Given the description of an element on the screen output the (x, y) to click on. 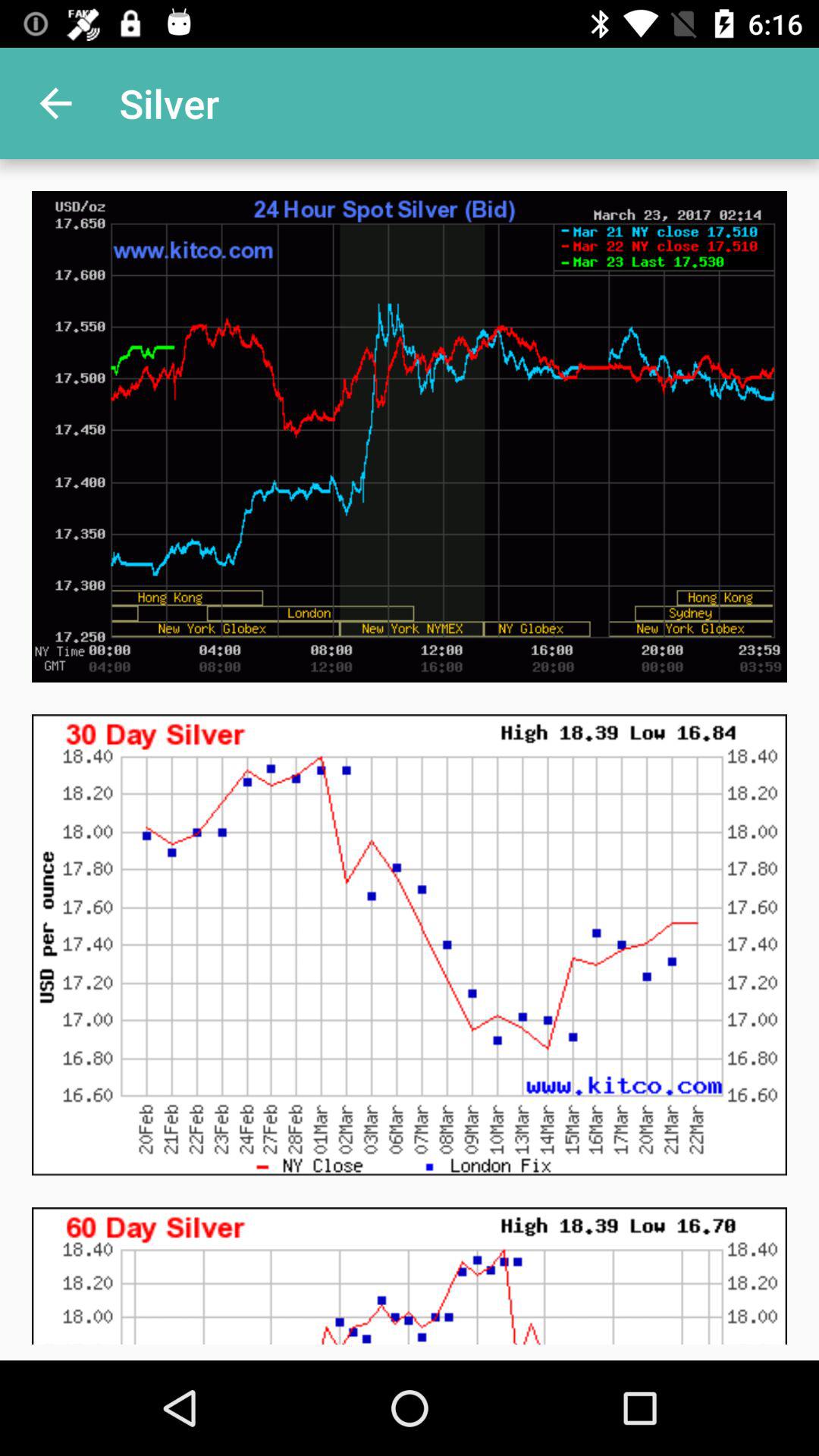
press the app next to silver app (55, 103)
